Given the description of an element on the screen output the (x, y) to click on. 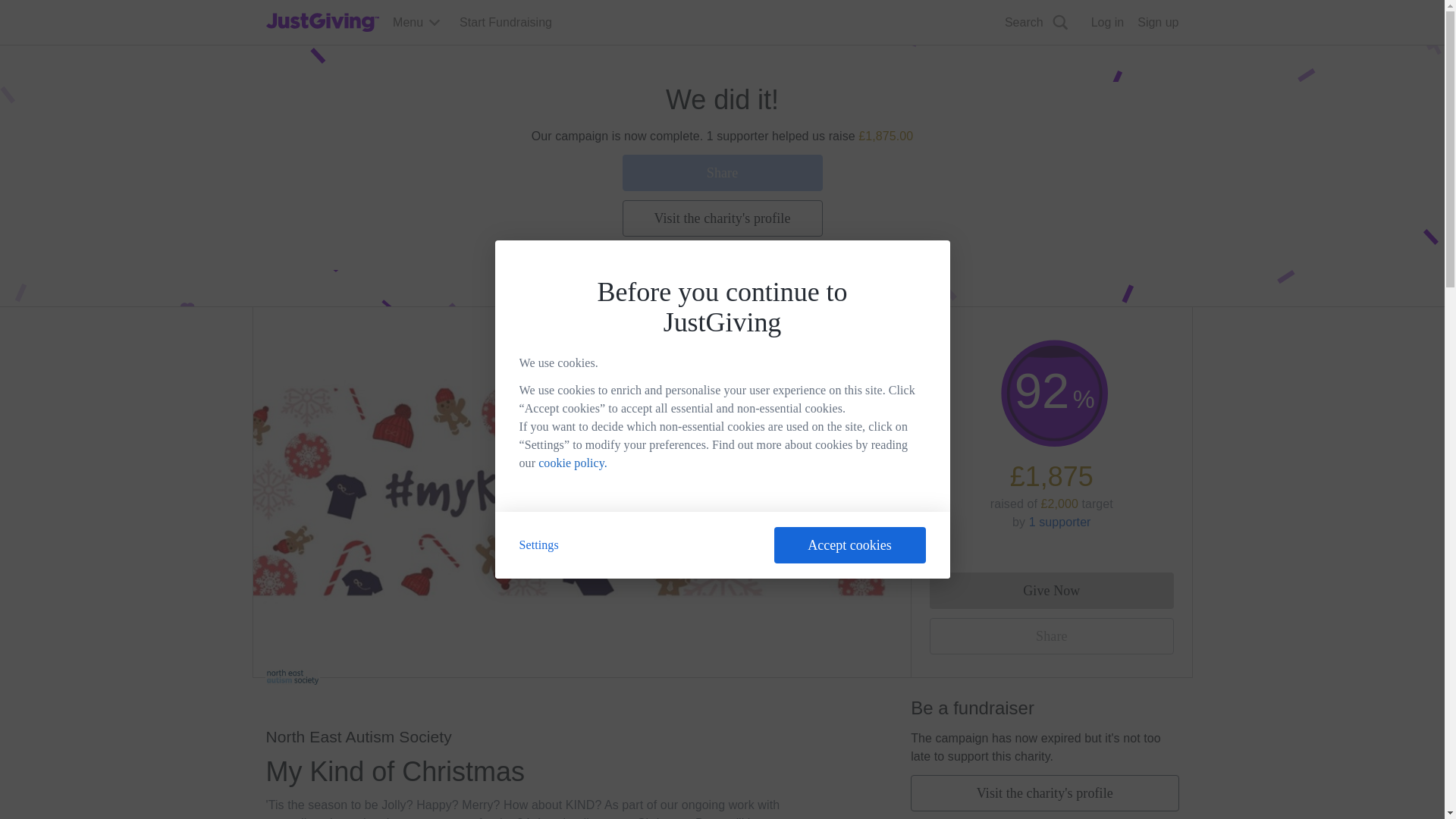
1 supporter (1059, 521)
cookie policy. (572, 462)
Log in (1107, 22)
Accept cookies (848, 545)
Visit the charity's profile (721, 217)
Menu (416, 22)
Share (721, 172)
Visit the charity's profile (1044, 792)
Sign up (1157, 22)
Start Fundraising (505, 22)
